Given the description of an element on the screen output the (x, y) to click on. 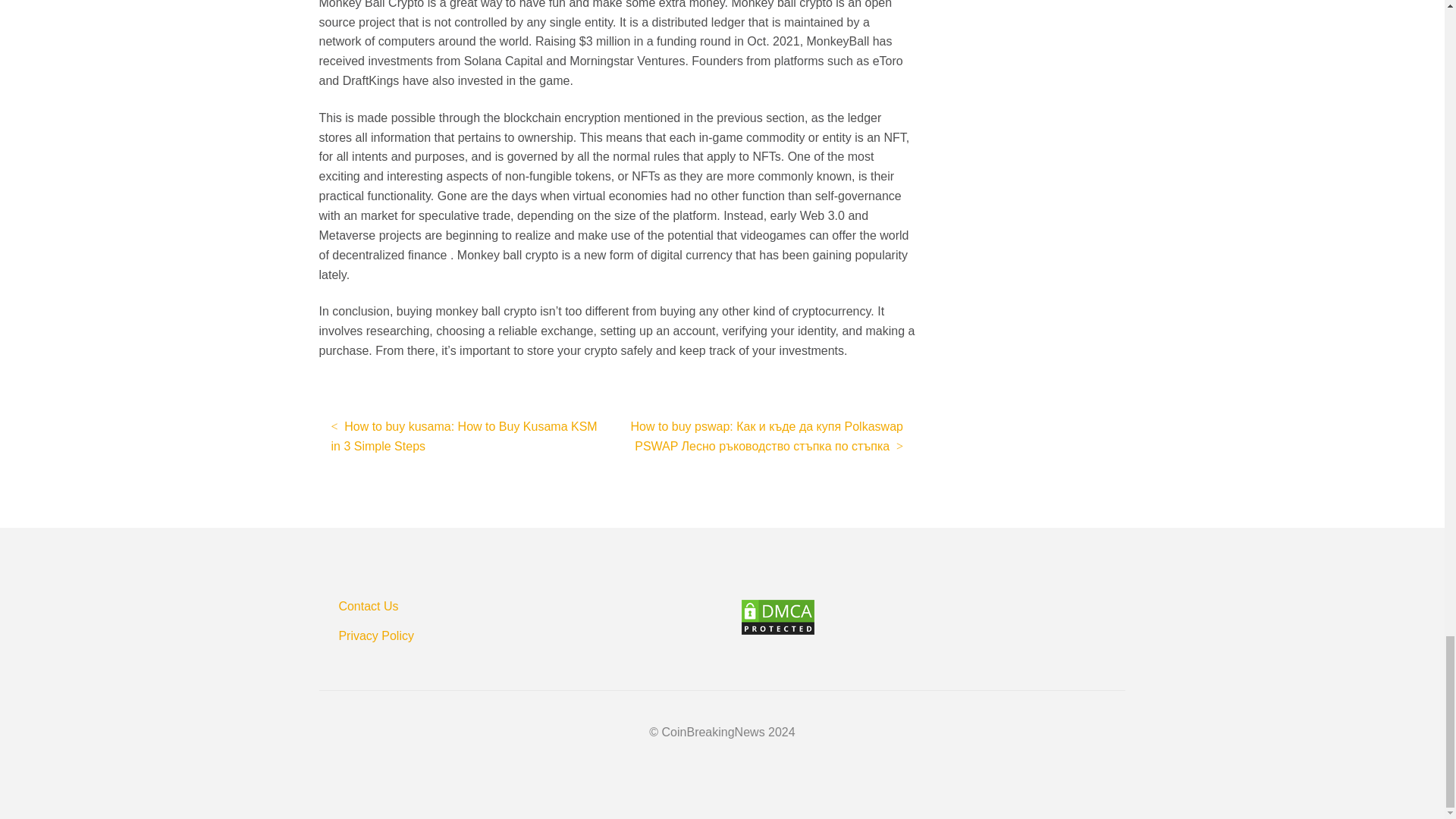
Privacy Policy (375, 635)
How to buy kusama: How to Buy Kusama KSM in 3 Simple Steps (467, 436)
Contact Us (367, 605)
Content Protection by DMCA.com (932, 617)
